Given the description of an element on the screen output the (x, y) to click on. 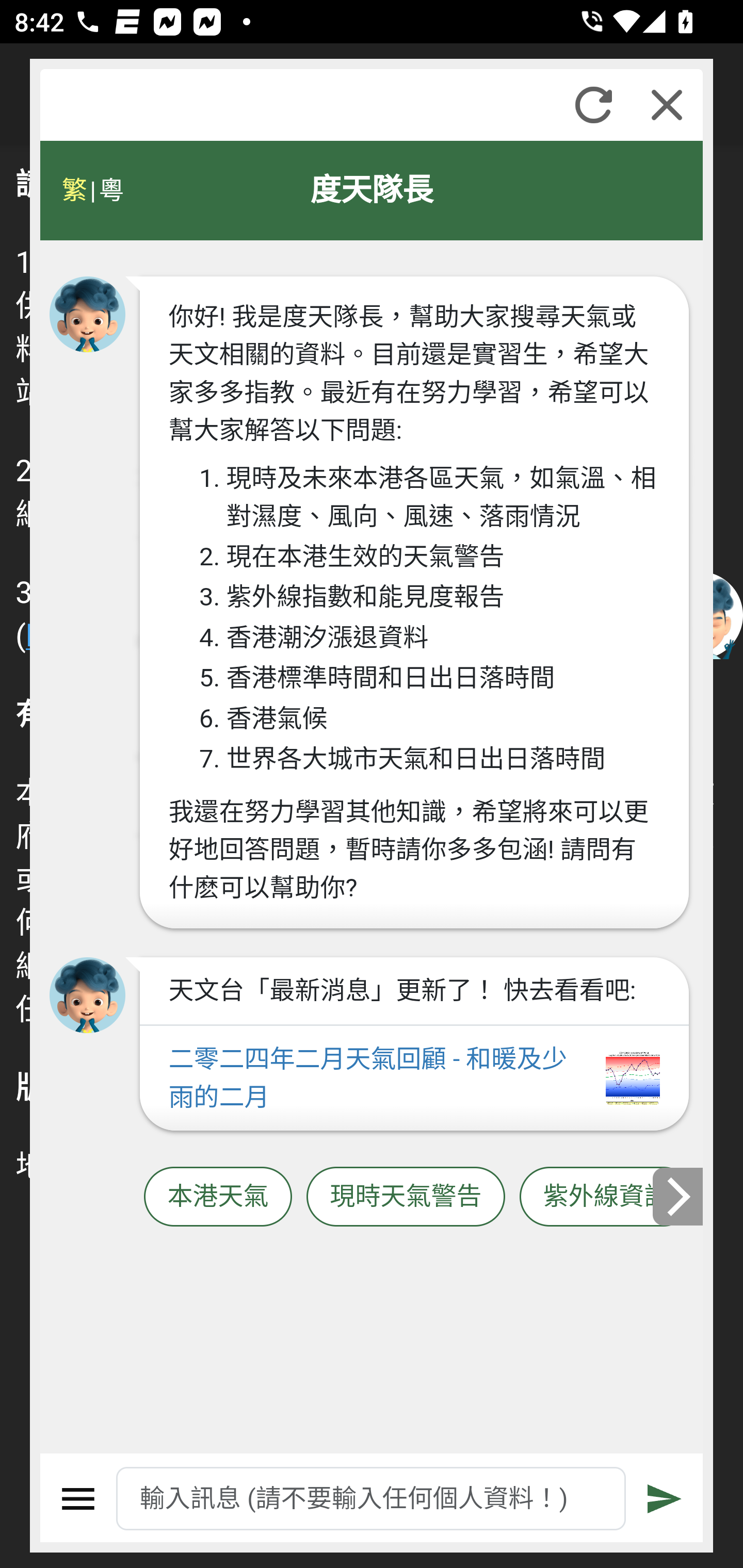
重新整理 (593, 104)
關閉 (666, 104)
繁 (73, 190)
粵 (110, 190)
二零二四年二月天氣回顧 - 和暖及少雨的二月 (413, 1078)
本港天氣 (217, 1196)
現時天氣警告 (405, 1196)
紫外線資訊 (605, 1196)
下一張 (678, 1196)
選單 (78, 1498)
遞交 (665, 1498)
